Given the description of an element on the screen output the (x, y) to click on. 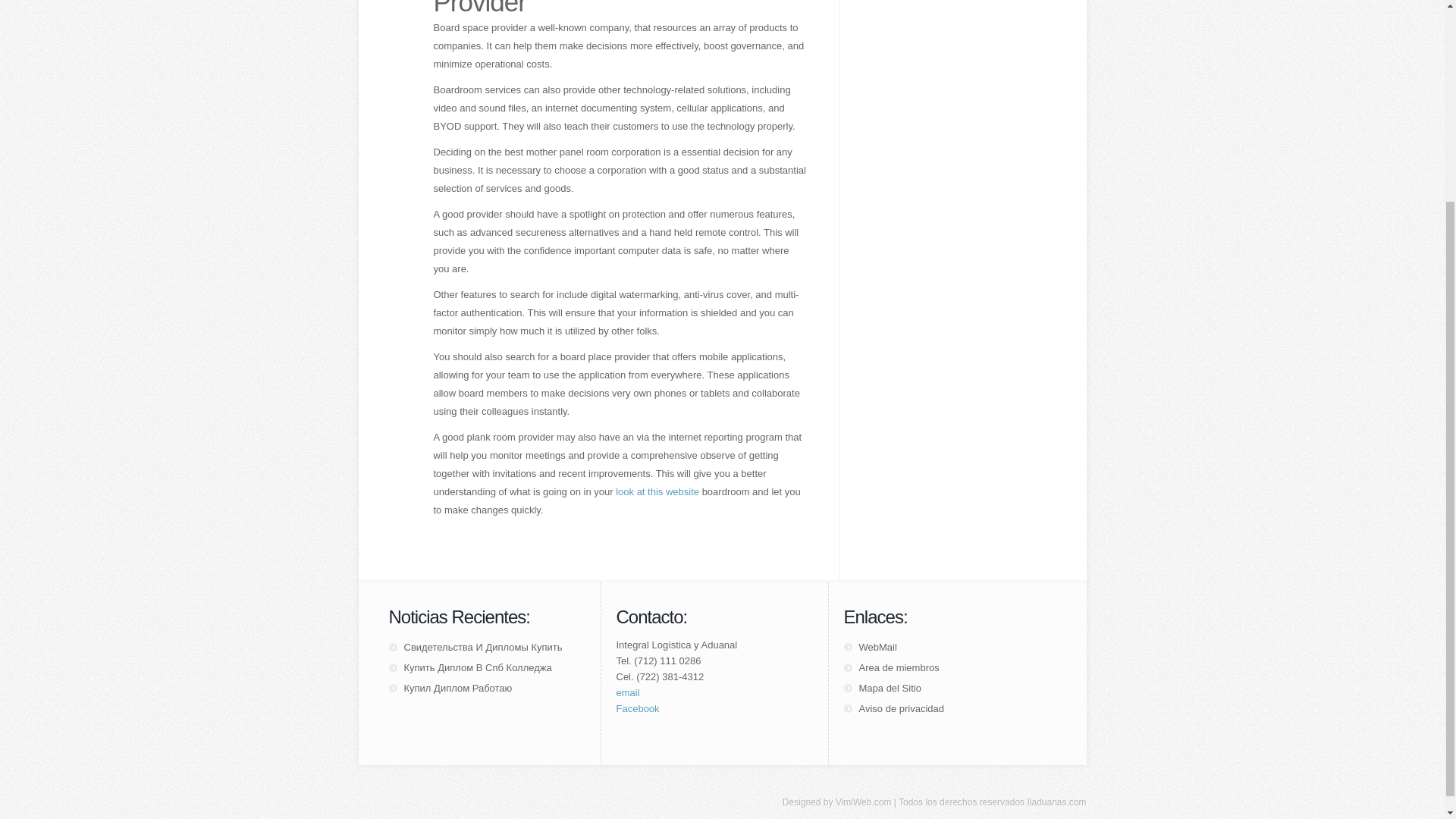
look at this website (656, 491)
VimiWeb.com (863, 801)
WebMail (877, 646)
email (627, 692)
Mapa del Sitio (889, 687)
Area de miembros (899, 667)
Facebook (637, 708)
